Given the description of an element on the screen output the (x, y) to click on. 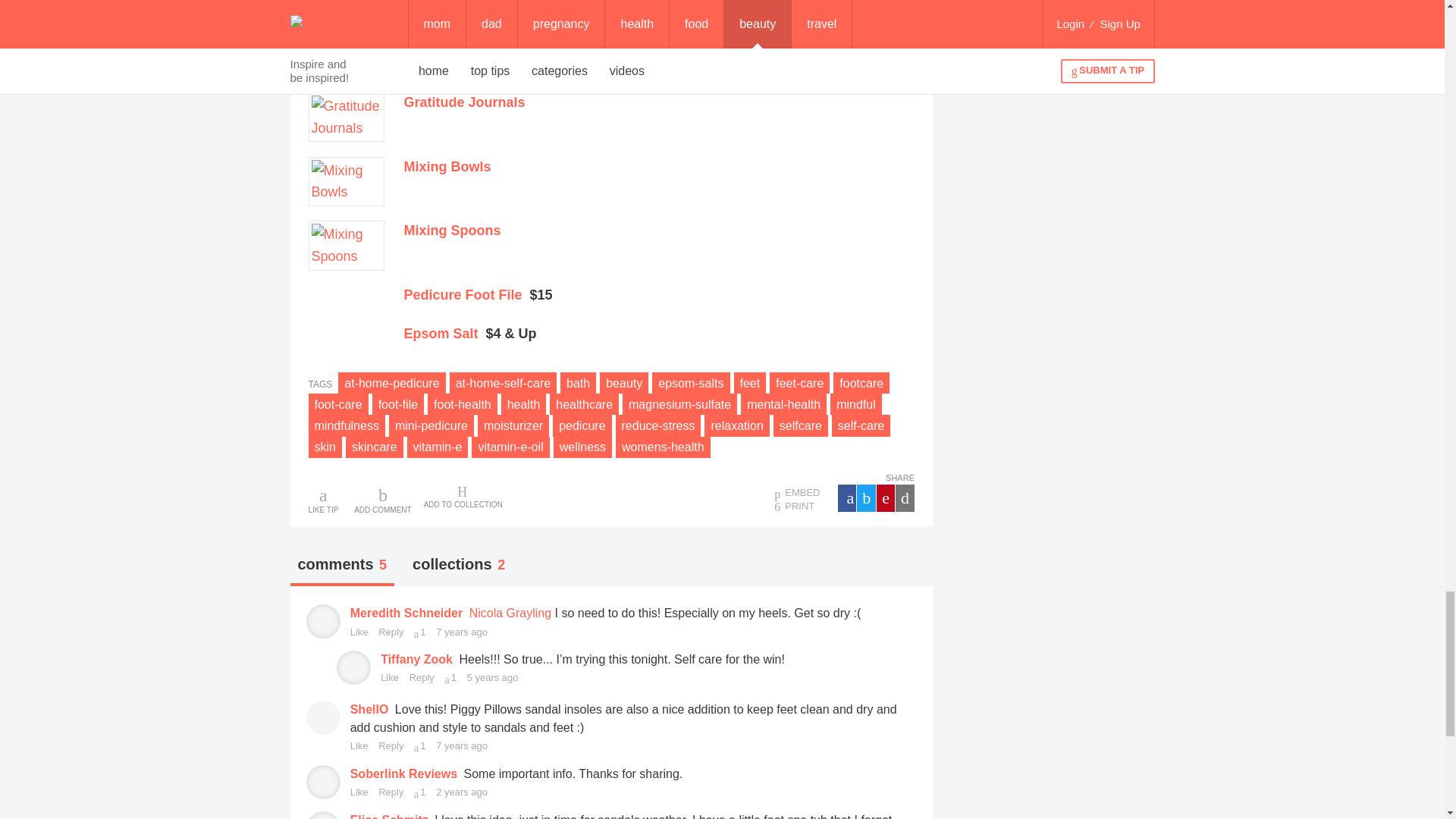
ADD COMMENT (382, 499)
